Given the description of an element on the screen output the (x, y) to click on. 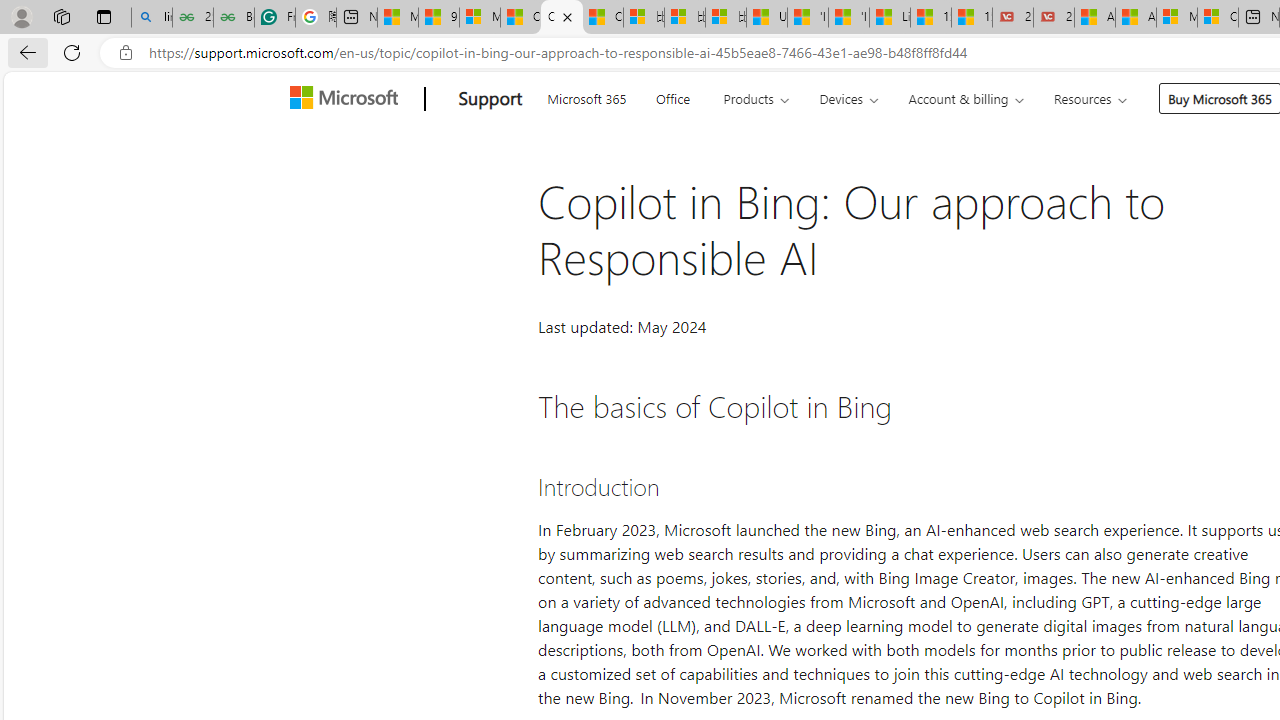
Best SSL Certificates Provider in India - GeeksforGeeks (233, 17)
15 Ways Modern Life Contradicts the Teachings of Jesus (971, 17)
linux basic - Search (151, 17)
Office (672, 96)
Microsoft (348, 99)
